Given the description of an element on the screen output the (x, y) to click on. 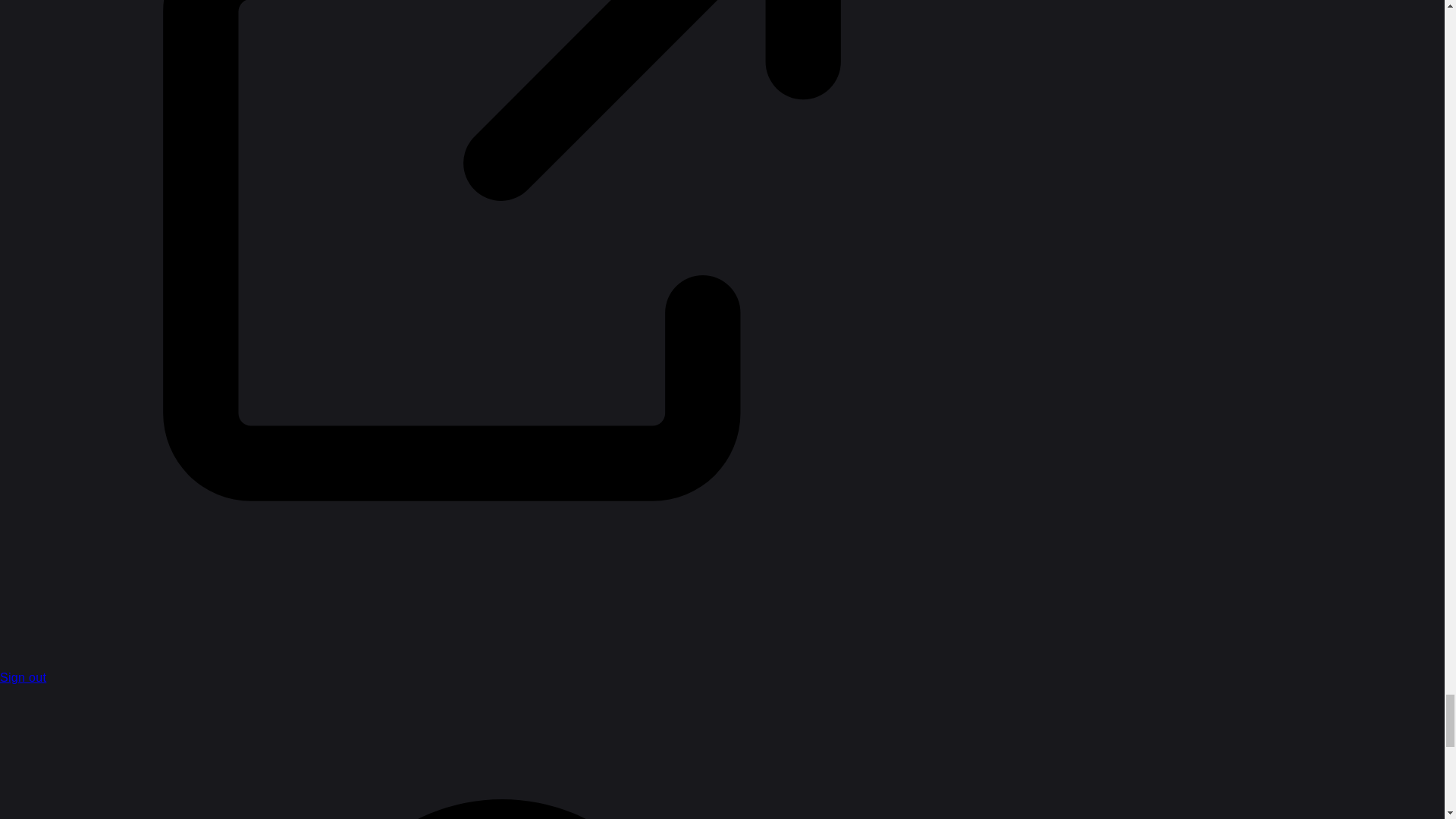
Oct 31, 2014 7:10 pm (582, 165)
2 (889, 156)
copy a link to this post to clipboard (1259, 99)
last reply (660, 145)
like this post (1229, 99)
Report Post (1197, 99)
